Given the description of an element on the screen output the (x, y) to click on. 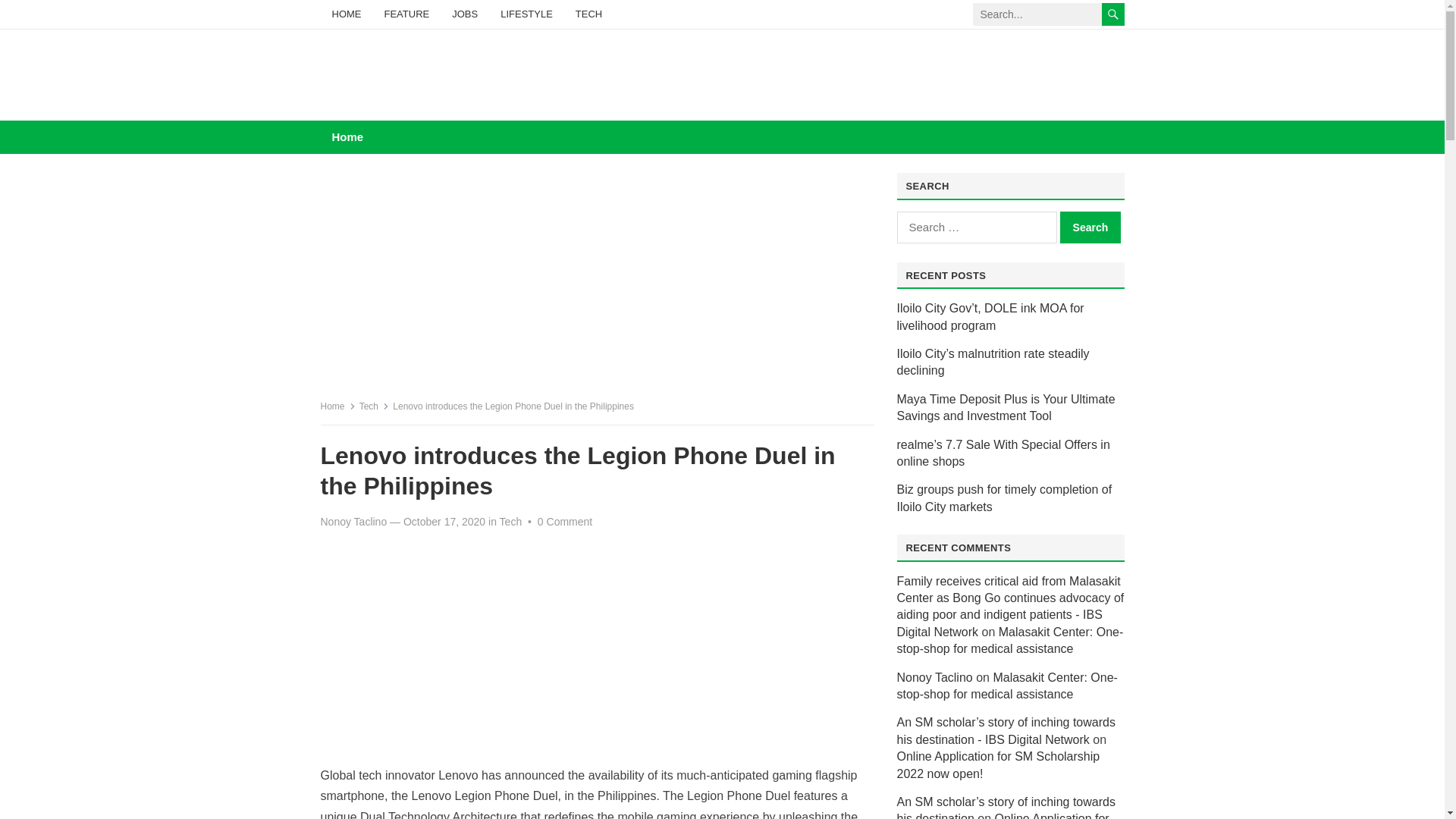
Nonoy Taclino (353, 521)
Home (337, 406)
TECH (588, 14)
0 Comment (564, 521)
Search (1090, 227)
FEATURE (406, 14)
Posts by Nonoy Taclino (353, 521)
Tech (510, 521)
Advertisement (596, 285)
JOBS (465, 14)
